Given the description of an element on the screen output the (x, y) to click on. 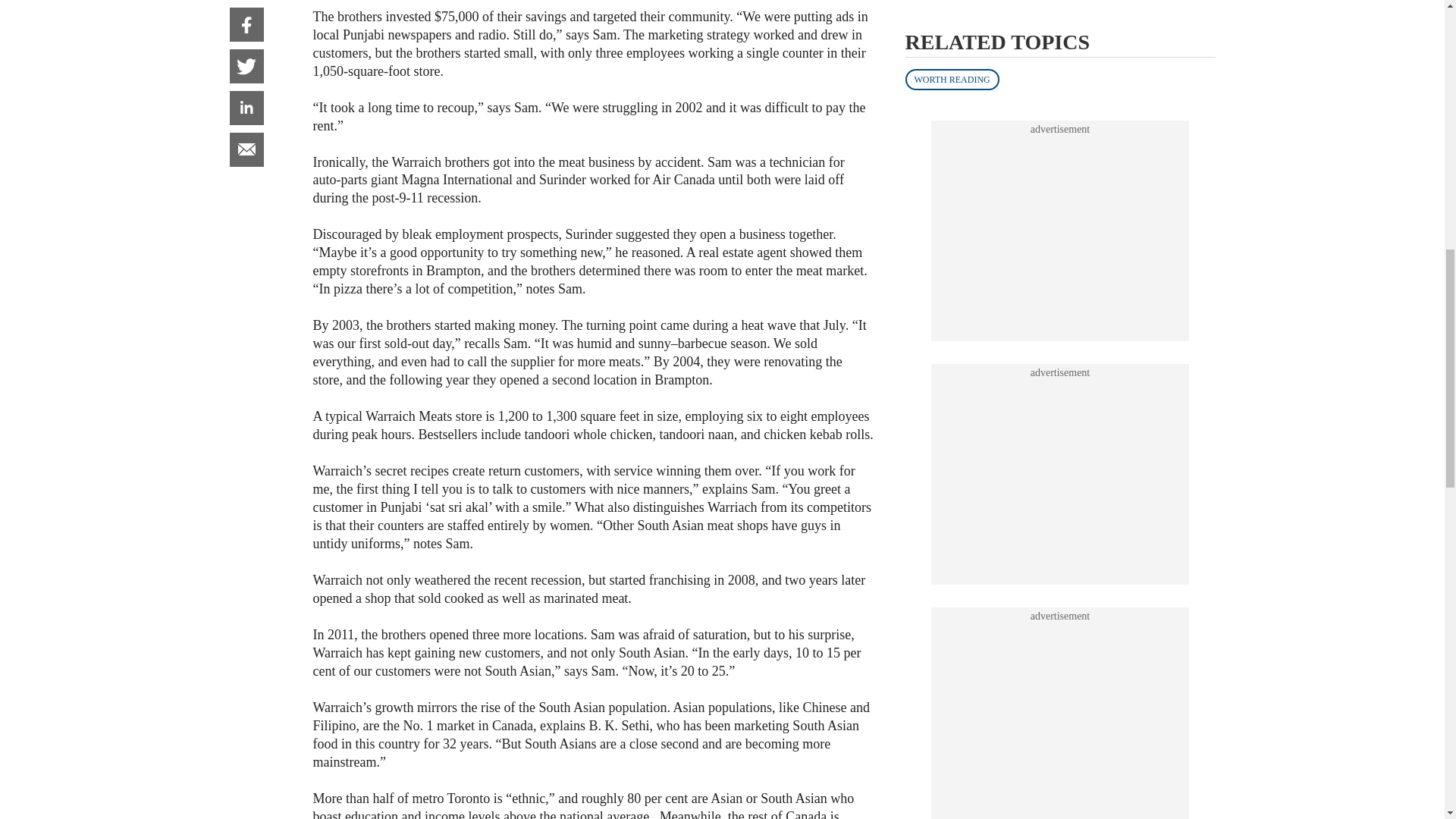
3rd party ad content (1059, 182)
3rd party ad content (1059, 17)
